Given the description of an element on the screen output the (x, y) to click on. 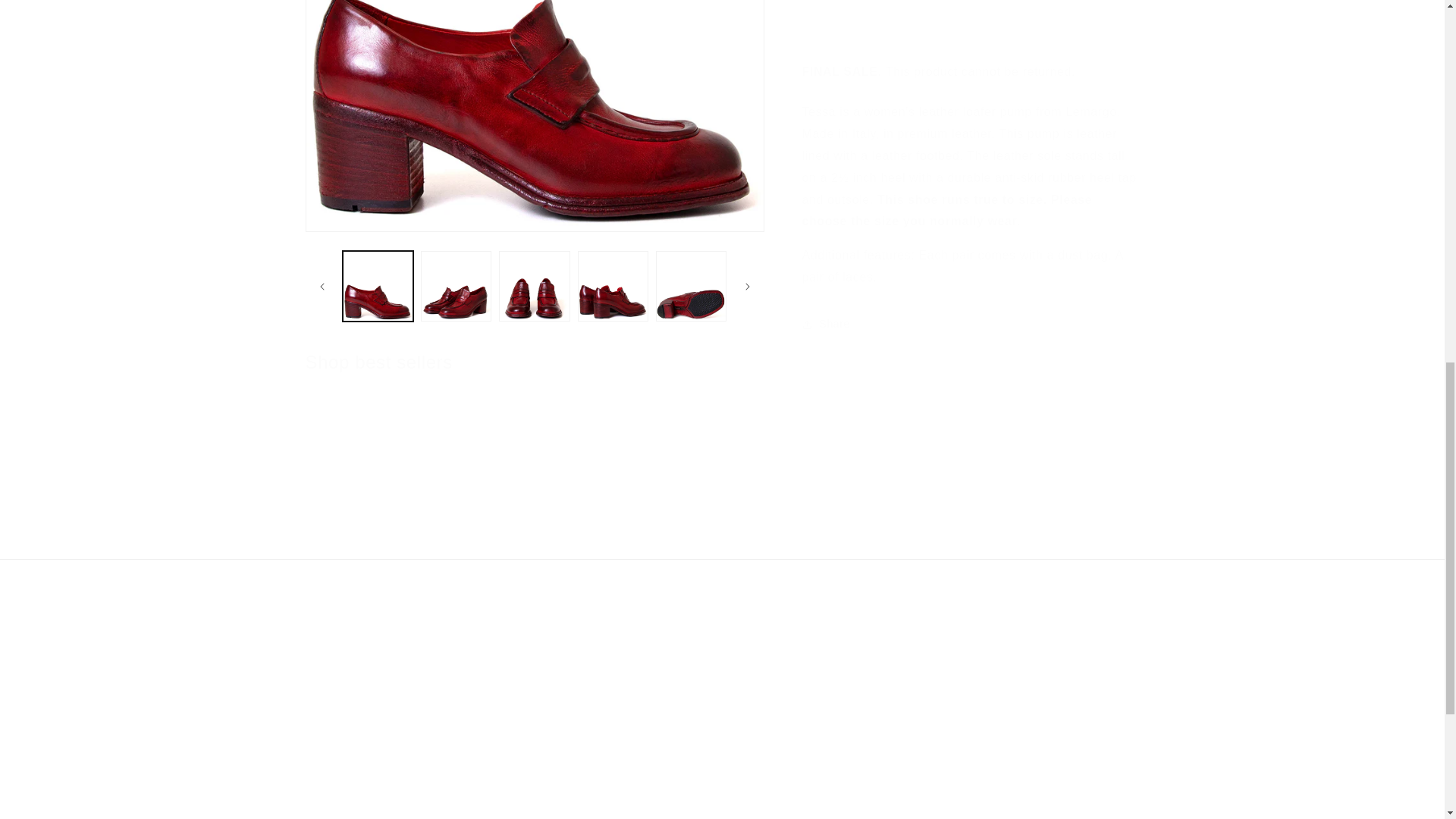
Shop best sellers (377, 361)
